Given the description of an element on the screen output the (x, y) to click on. 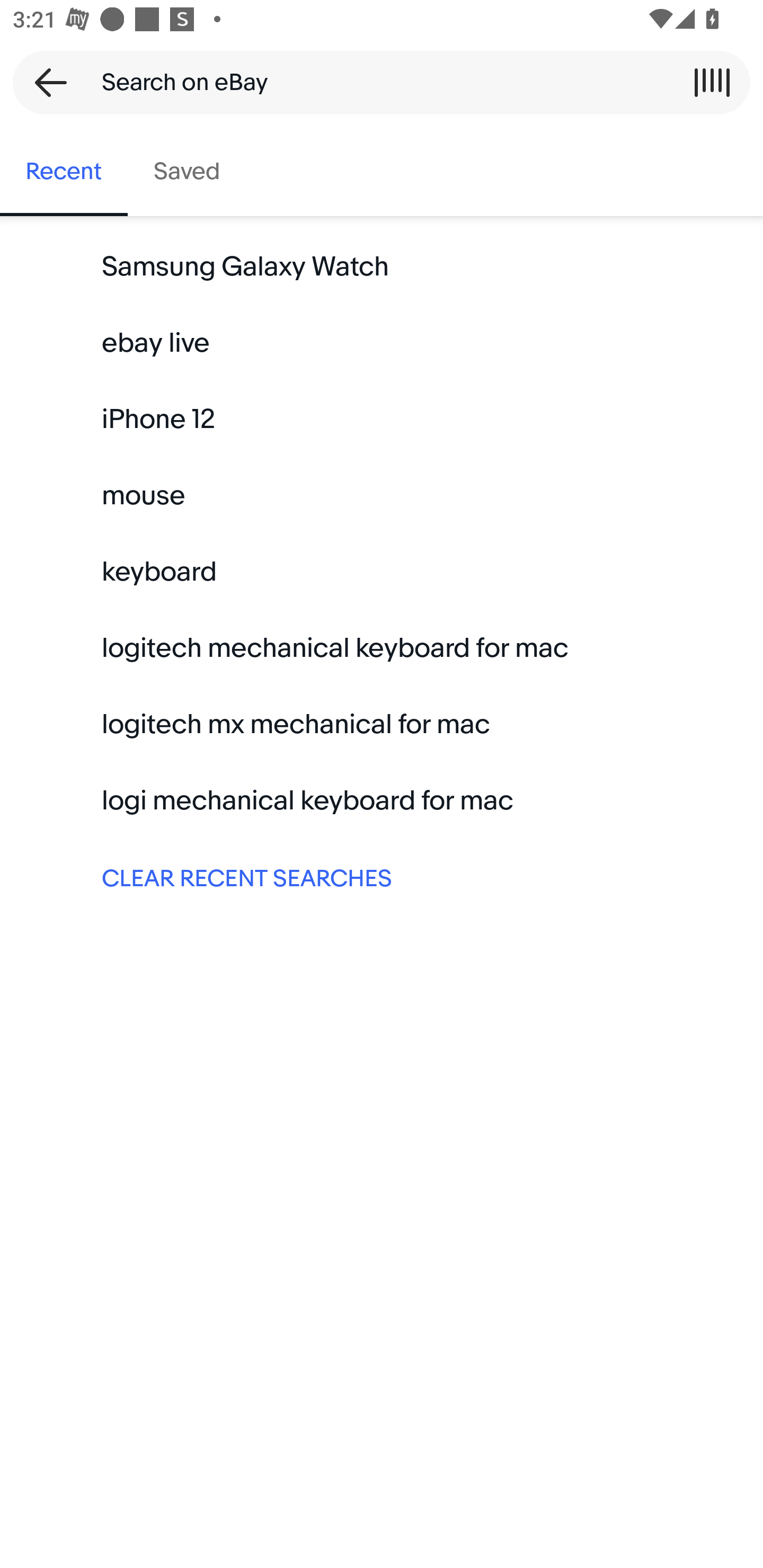
Back (44, 82)
Scan a barcode (711, 82)
Search on eBay (375, 82)
Saved, tab 2 of 2 Saved (186, 171)
ebay live Keyword search ebay live: (381, 343)
iPhone 12 Keyword search iPhone 12: (381, 419)
mouse Keyword search mouse: (381, 495)
keyboard Keyword search keyboard: (381, 571)
CLEAR RECENT SEARCHES (381, 876)
